Given the description of an element on the screen output the (x, y) to click on. 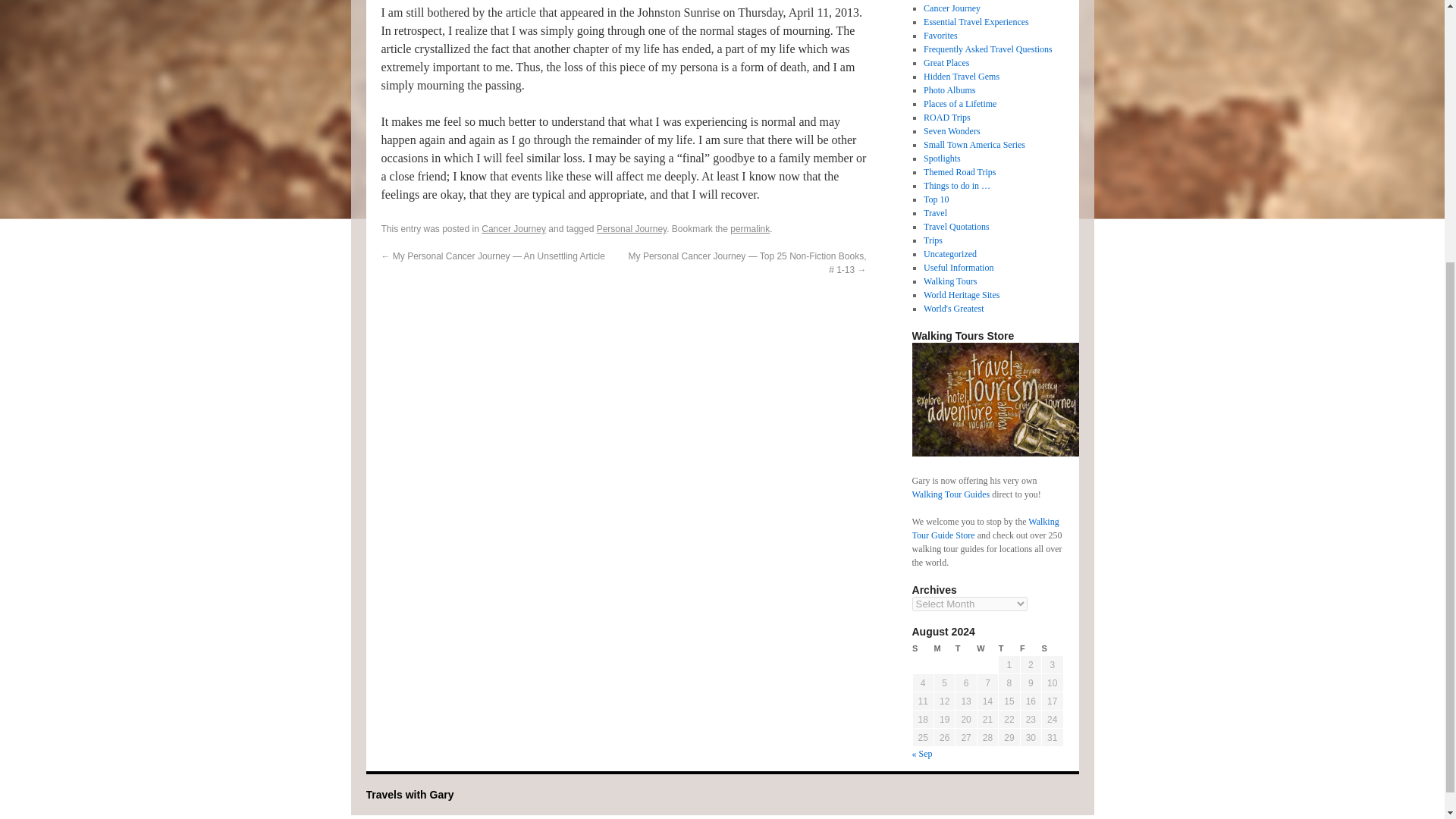
Travel (935, 213)
Essential Travel Experiences (976, 21)
Trips (932, 240)
Monday (944, 648)
Friday (1030, 648)
Small Town America Series (974, 144)
Themed Road Trips (959, 172)
Tuesday (965, 648)
Attractions beyond the typical (960, 76)
Uncategorized (949, 253)
